Given the description of an element on the screen output the (x, y) to click on. 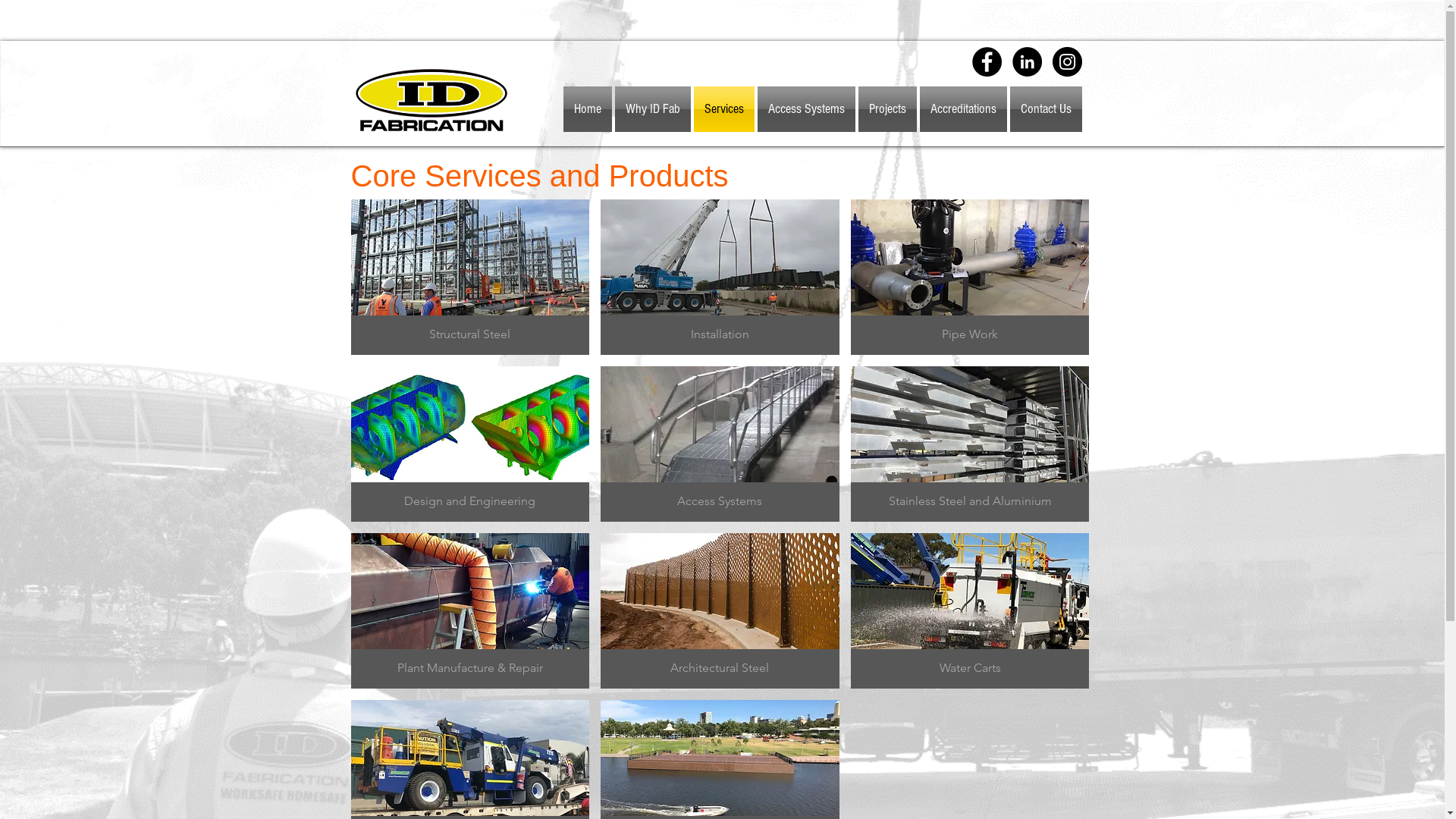
Plant Manufacture & Repair Element type: text (469, 610)
idfab_transparent.png Element type: hover (430, 99)
Contact Us Element type: text (1045, 108)
Water Carts Element type: text (969, 610)
Design and Engineering Element type: text (469, 443)
Accreditations Element type: text (962, 108)
Pipe Work Element type: text (969, 276)
Why ID Fab Element type: text (651, 108)
Access Systems Element type: text (719, 443)
Access Systems Element type: text (805, 108)
Stainless Steel and Aluminium Element type: text (969, 443)
Home Element type: text (587, 108)
Architectural Steel Element type: text (719, 610)
Projects Element type: text (887, 108)
Structural Steel Element type: text (469, 276)
Installation Element type: text (719, 276)
Services Element type: text (723, 108)
